Given the description of an element on the screen output the (x, y) to click on. 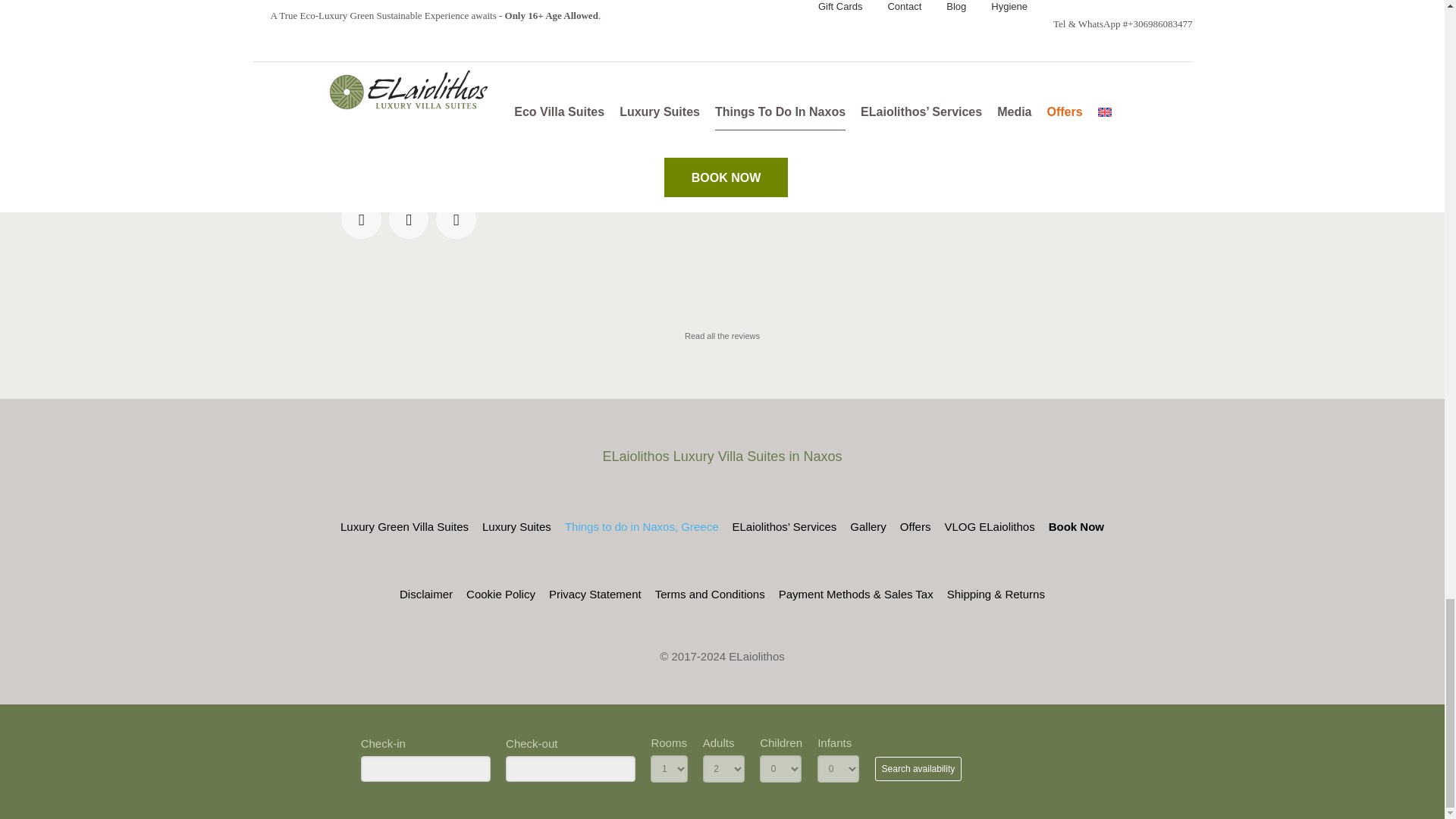
Youtube (455, 219)
Instagram (408, 219)
Facebook (360, 219)
